Given the description of an element on the screen output the (x, y) to click on. 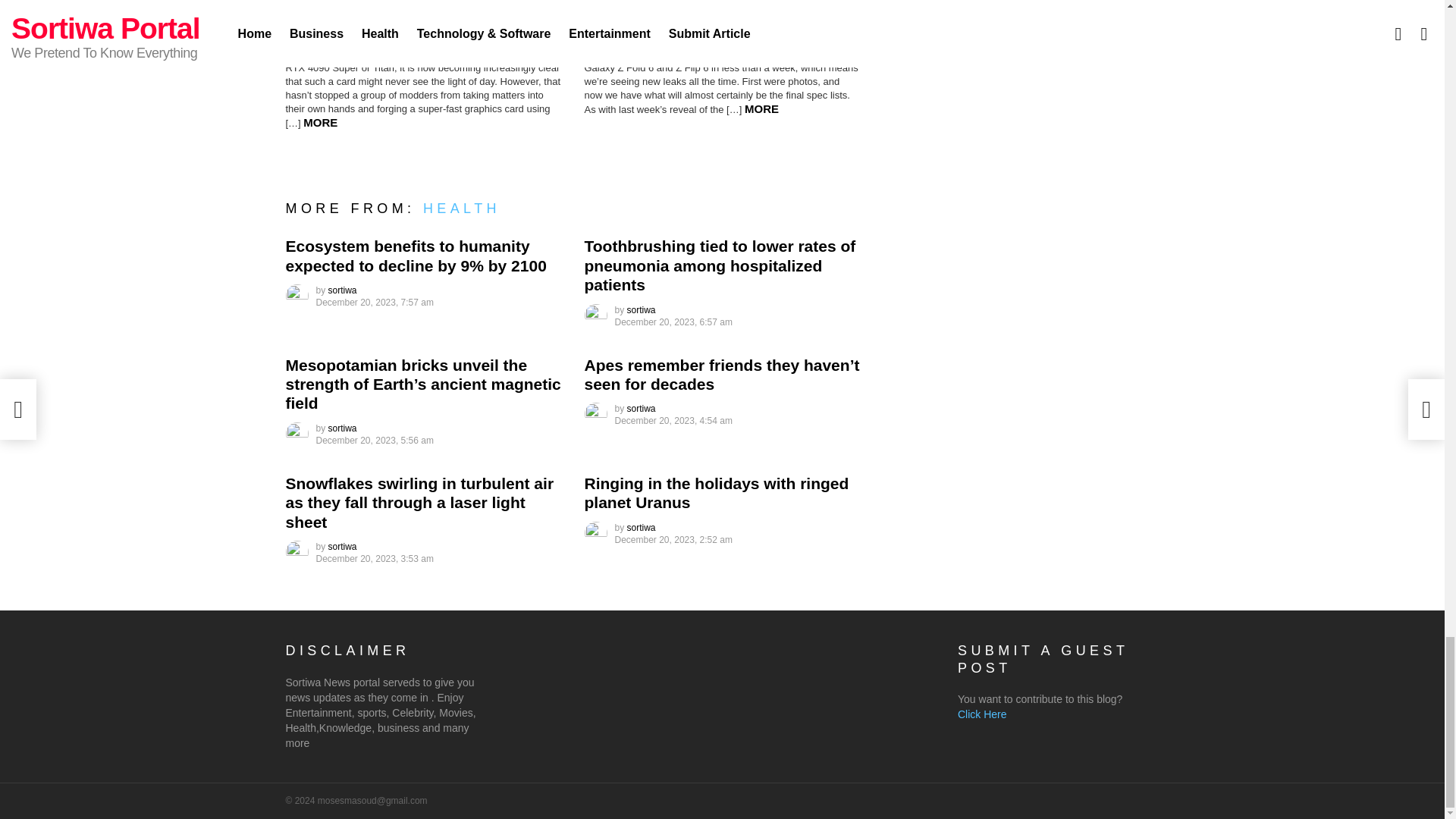
Posts by sortiwa (641, 527)
Posts by sortiwa (342, 290)
Posts by sortiwa (641, 408)
Posts by sortiwa (342, 428)
Posts by sortiwa (342, 546)
Posts by sortiwa (641, 309)
